Given the description of an element on the screen output the (x, y) to click on. 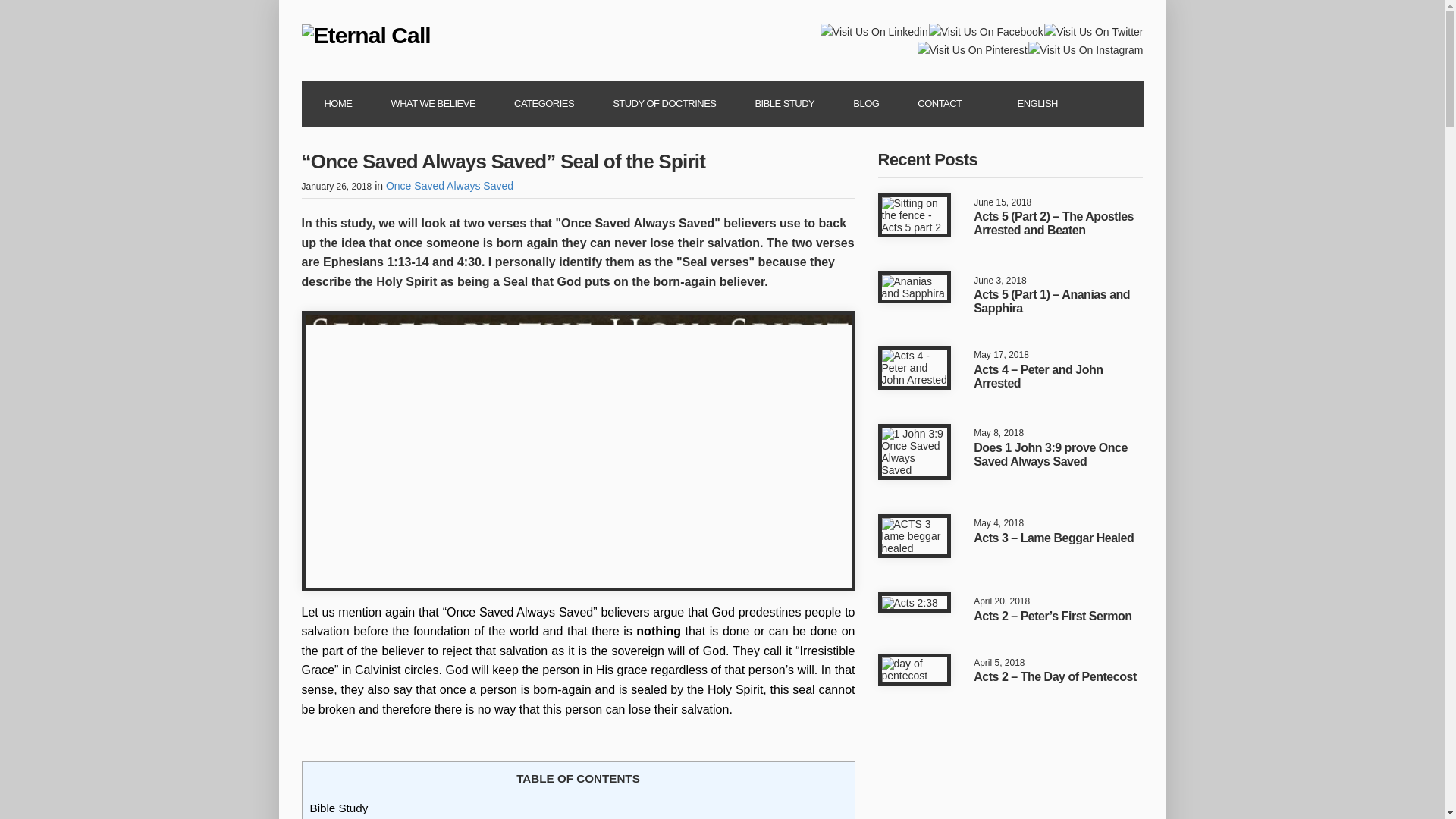
BLOG (866, 104)
BIBLE STUDY (783, 104)
Visit Us On Twitter (1092, 30)
WHAT WE BELIEVE (433, 104)
Visit Us On Pinterest (972, 48)
CATEGORIES (543, 104)
Does 1 John 3:9 prove Once Saved Always Saved (1050, 454)
Bible Study (338, 807)
HOME (337, 104)
